Given the description of an element on the screen output the (x, y) to click on. 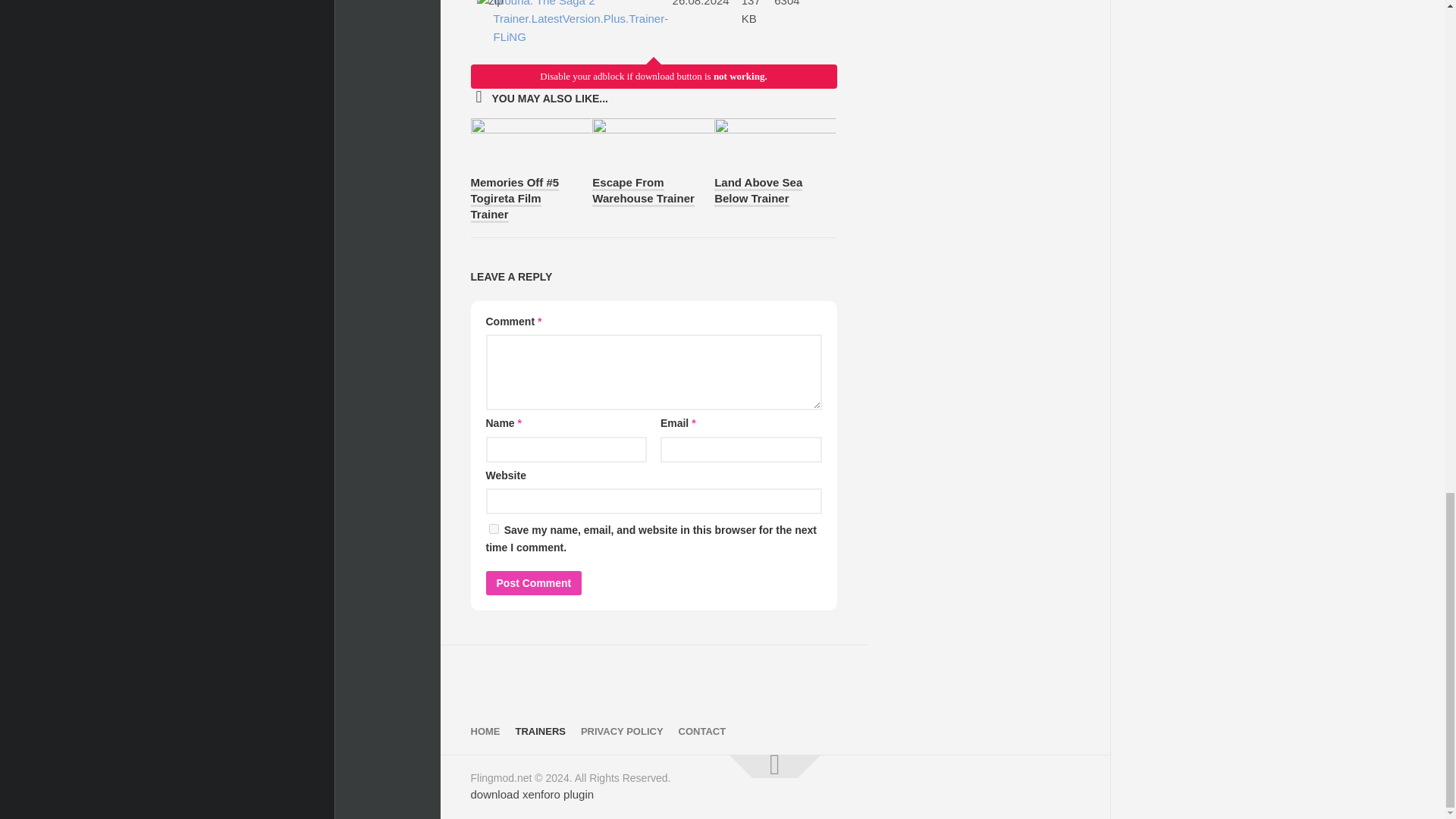
Land Above Sea Below Trainer (758, 191)
Escape From Warehouse Trainer (643, 191)
Ufouria: The Saga 2 Trainer.LatestVersion.Plus.Trainer-FLiNG (575, 22)
Post Comment (532, 582)
Post Comment (532, 582)
download xenforo plugin (532, 793)
yes (492, 528)
